Given the description of an element on the screen output the (x, y) to click on. 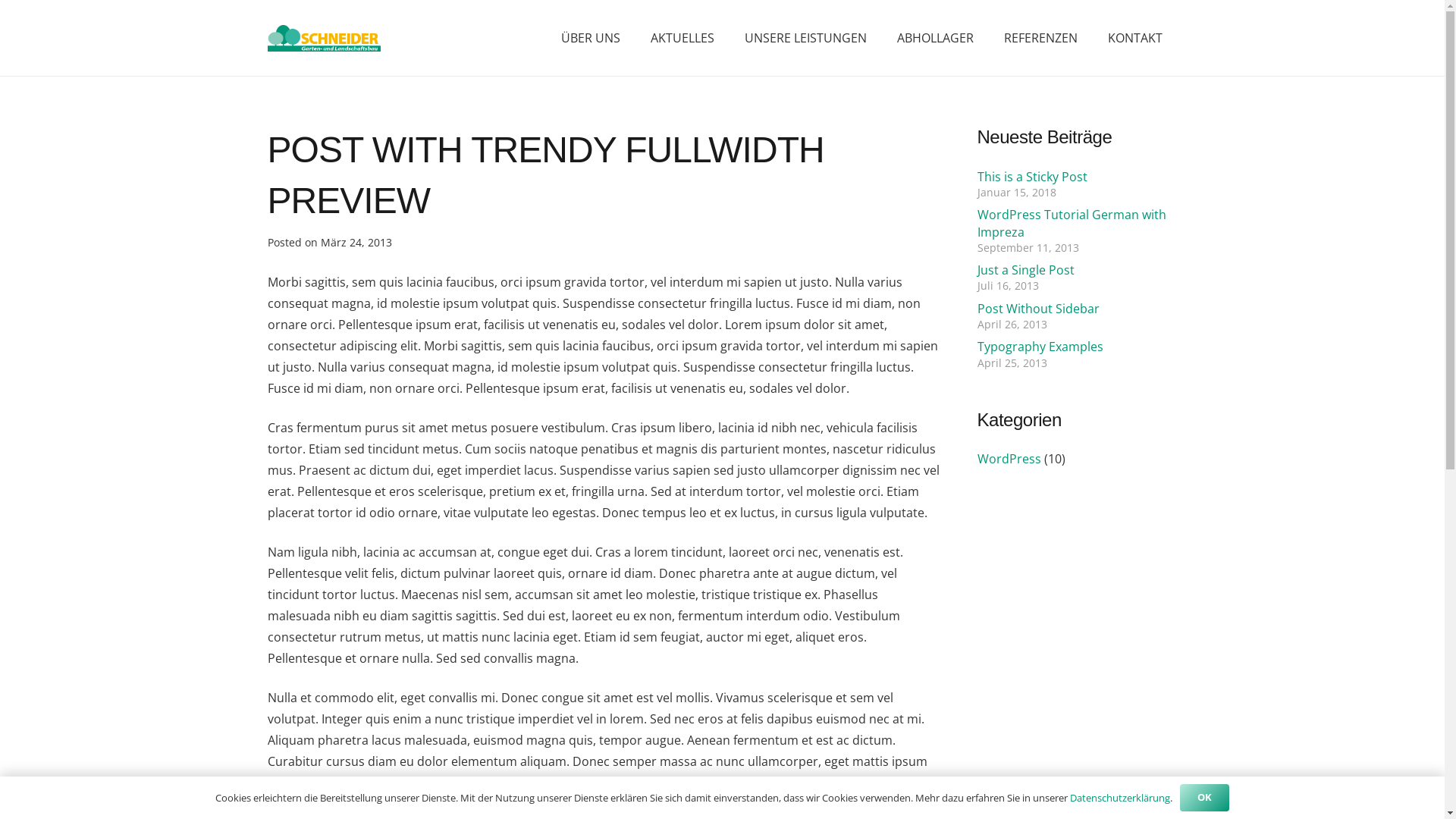
KONTAKT Element type: text (1134, 37)
Just a Single Post Element type: text (1024, 269)
AKTUELLES Element type: text (682, 37)
WordPress Element type: text (1008, 458)
This is a Sticky Post Element type: text (1031, 176)
OK Element type: text (1204, 797)
WordPress Tutorial German with Impreza Element type: text (1070, 222)
ABHOLLAGER Element type: text (934, 37)
Post Without Sidebar Element type: text (1037, 308)
Typography Examples Element type: text (1039, 346)
REFERENZEN Element type: text (1040, 37)
UNSERE LEISTUNGEN Element type: text (805, 37)
